Given the description of an element on the screen output the (x, y) to click on. 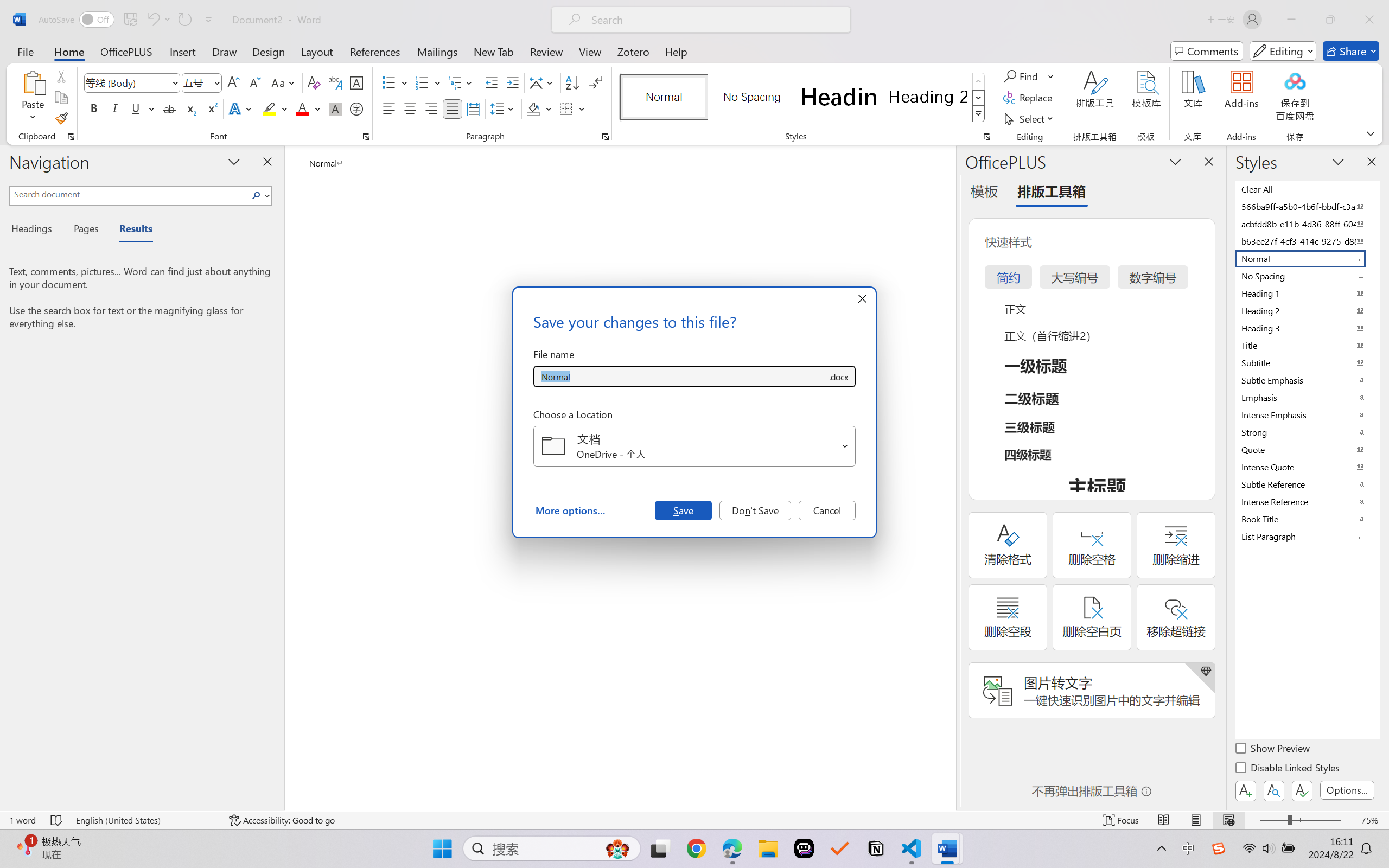
Format Painter (60, 118)
Options... (1346, 789)
Show/Hide Editing Marks (595, 82)
Headings (35, 229)
Align Right (431, 108)
Character Border (356, 82)
Spelling and Grammar Check No Errors (56, 819)
